Given the description of an element on the screen output the (x, y) to click on. 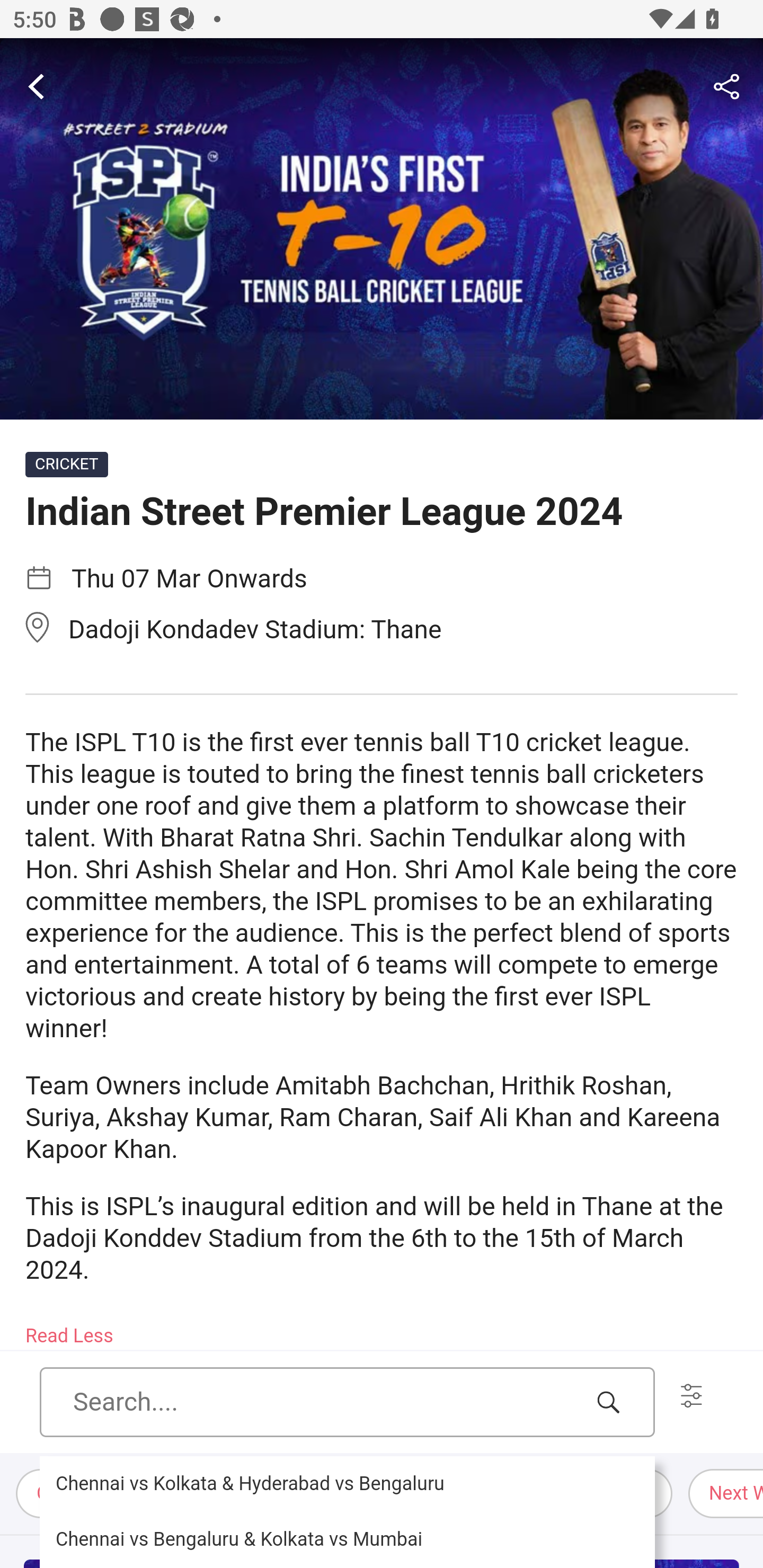
Indian Street Premier League 2024 (381, 228)
Read Less (69, 1329)
Chennai vs Kolkata & Hyderabad vs Bengaluru (346, 1484)
Chennai vs Bengaluru & Kolkata vs Mumbai (346, 1539)
